Given the description of an element on the screen output the (x, y) to click on. 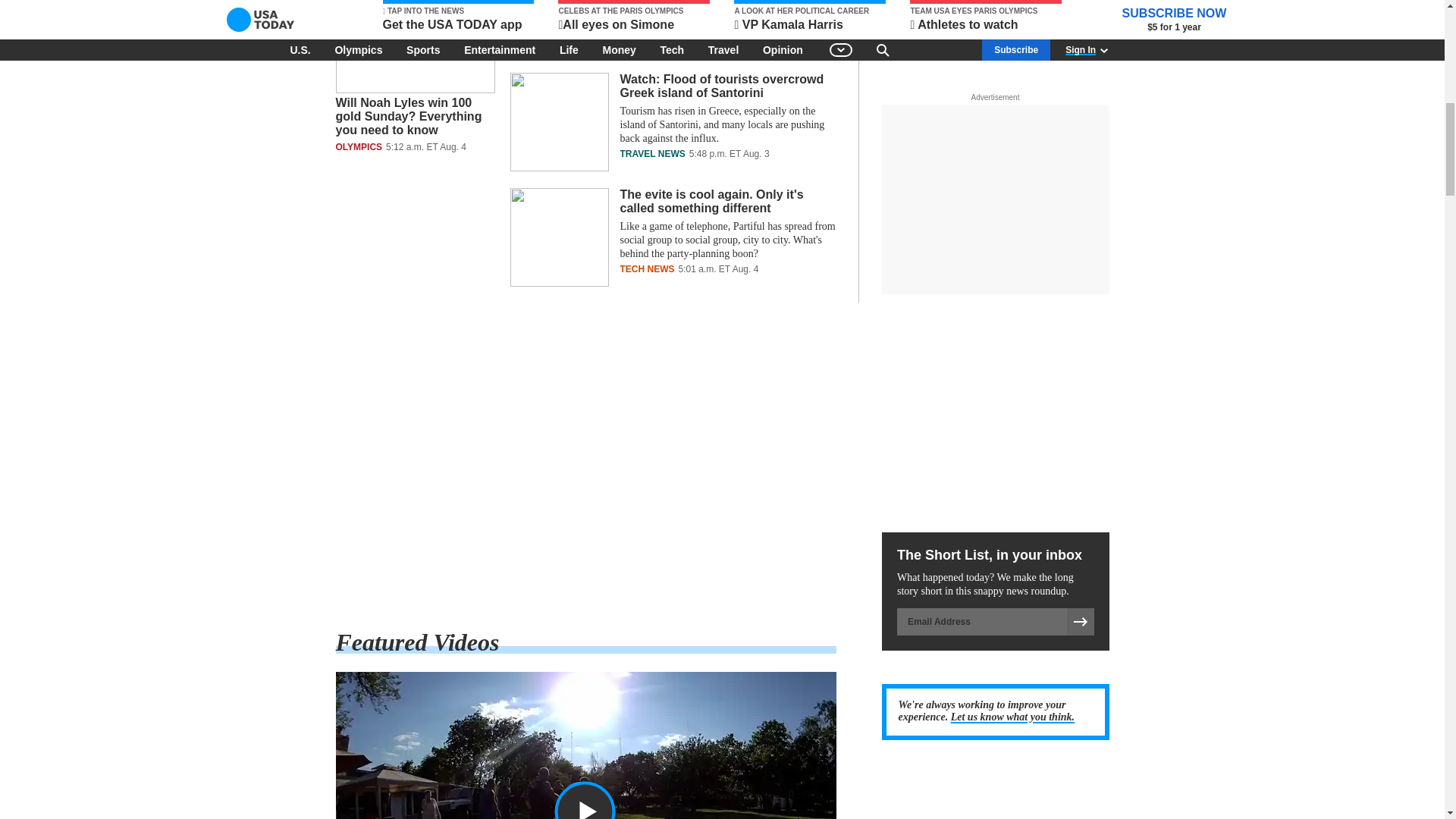
Olympic Results (584, 466)
